Given the description of an element on the screen output the (x, y) to click on. 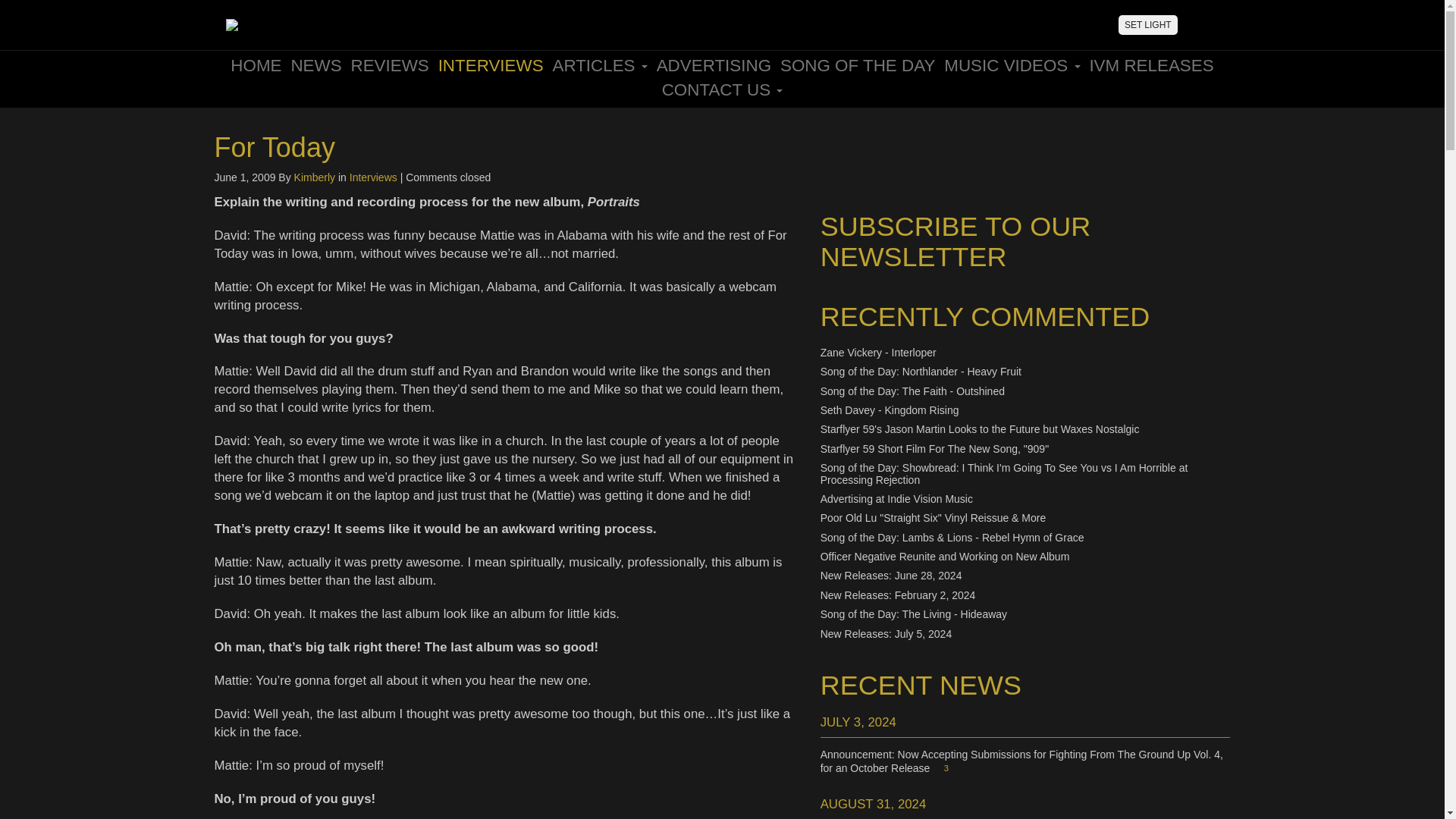
SONG OF THE DAY (857, 65)
HOME (255, 65)
IVM RELEASES (1150, 65)
CONTACT US (722, 89)
ARTICLES (598, 65)
SET LIGHT (1147, 25)
REVIEWS (388, 65)
NEWS (314, 65)
Kimberly (314, 177)
INTERVIEWS (491, 65)
